Given the description of an element on the screen output the (x, y) to click on. 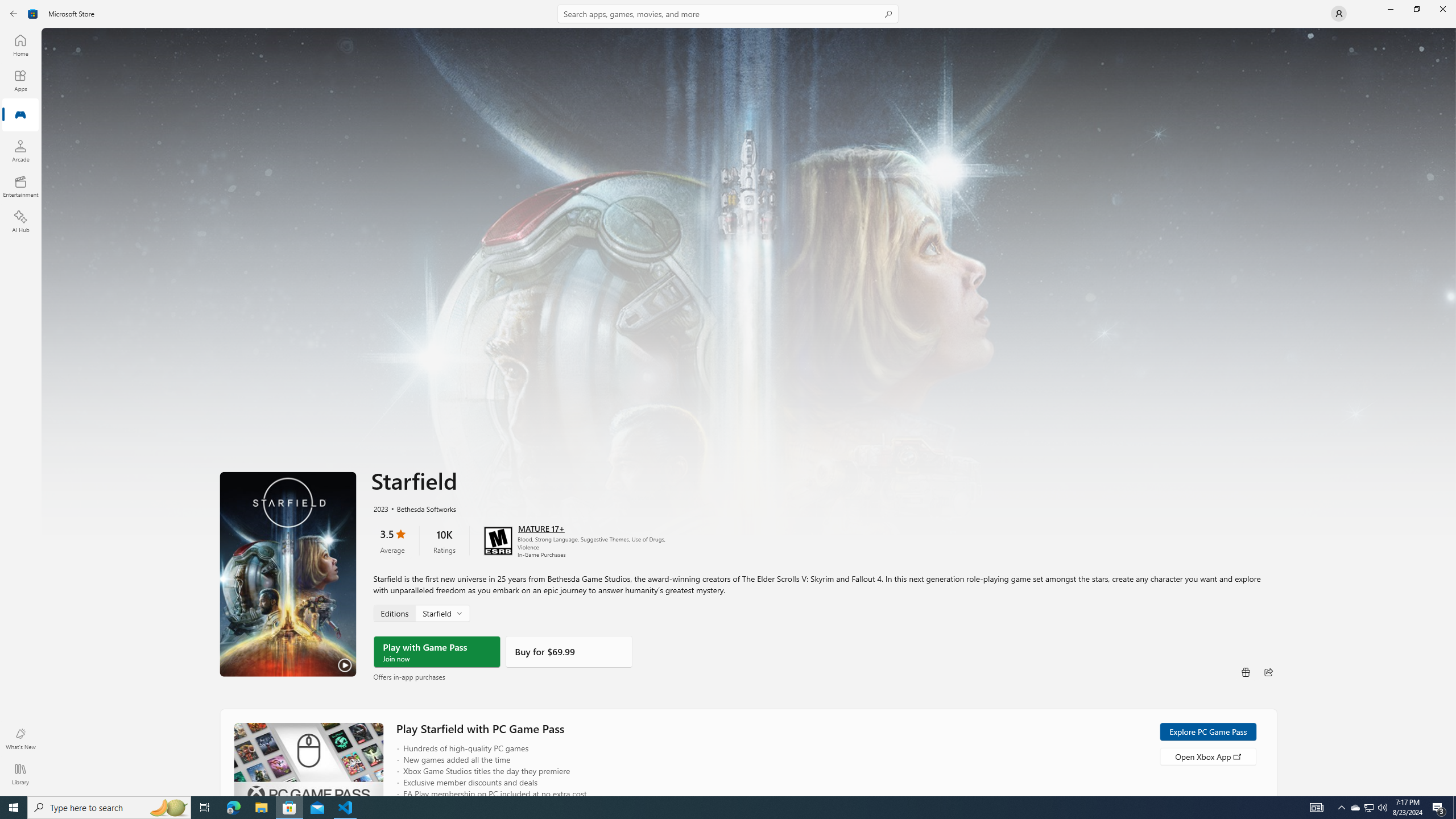
Bethesda Softworks (420, 507)
AI Hub (20, 221)
2023 (379, 507)
3.5 stars. Click to skip to ratings and reviews (392, 540)
Restore Microsoft Store (1416, 9)
Home (20, 45)
Play Trailer (287, 573)
What's New (20, 738)
Explore PC Game Pass (1207, 730)
Close Microsoft Store (1442, 9)
Play with Game Pass (436, 651)
Gaming (20, 115)
Library (20, 773)
User profile (1338, 13)
Buy as gift (1245, 671)
